Given the description of an element on the screen output the (x, y) to click on. 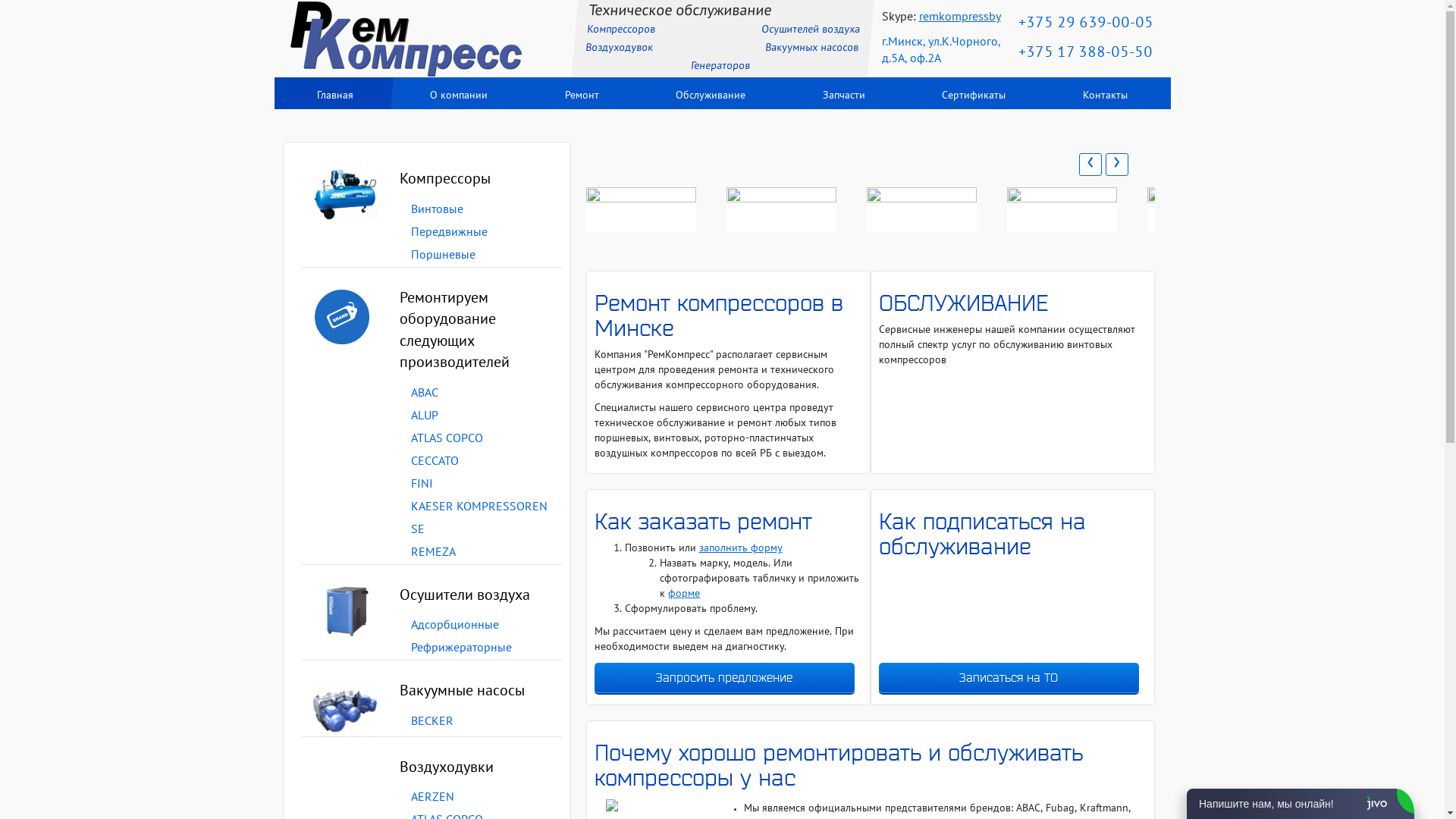
ALUP Element type: text (424, 416)
remkompressby Element type: text (960, 17)
ATLAS COPCO Element type: text (447, 438)
AERZEN Element type: text (432, 797)
ABAC Element type: text (424, 393)
FINI Element type: text (422, 484)
REMEZA Element type: text (433, 552)
CECCATO Element type: text (434, 461)
KAESER KOMPRESSOREN SE Element type: text (479, 518)
BECKER Element type: text (432, 721)
